Given the description of an element on the screen output the (x, y) to click on. 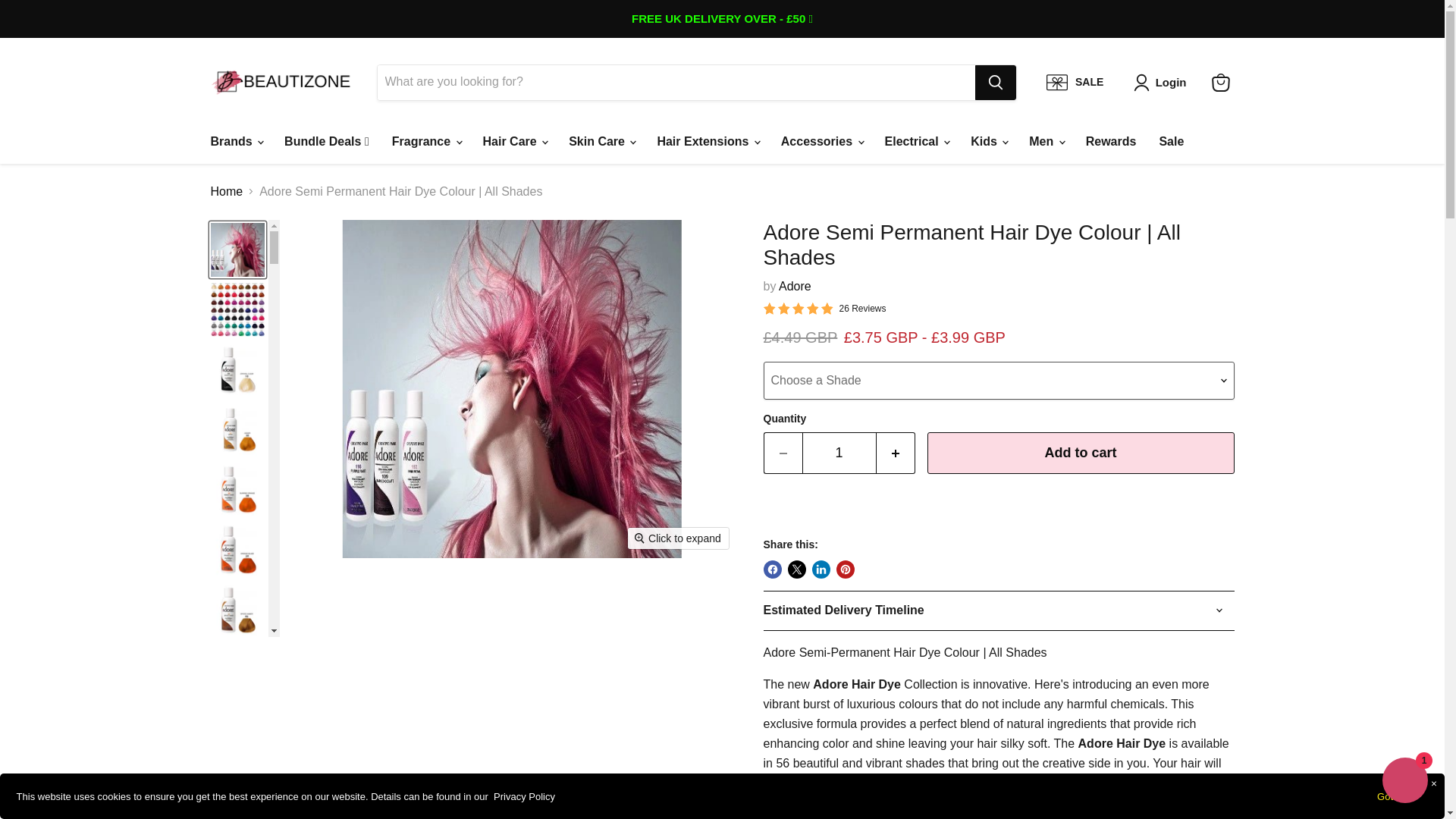
1 (839, 453)
Login (1163, 82)
Adore (794, 286)
SALE (1074, 81)
View cart (1220, 81)
